Given the description of an element on the screen output the (x, y) to click on. 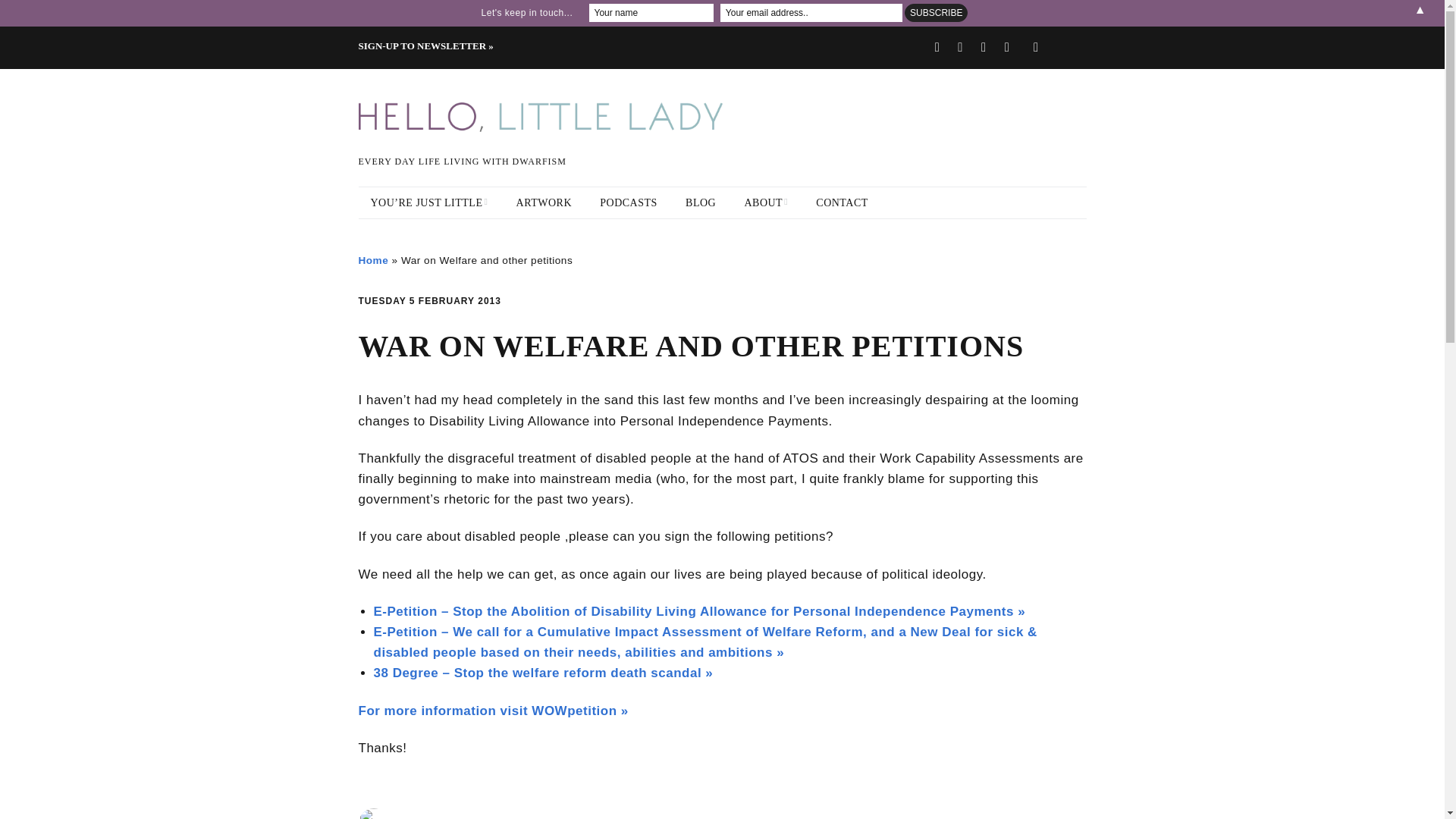
PODCASTS (628, 203)
ARTWORK (543, 203)
BLOG (700, 203)
Home (373, 260)
Subscribe (936, 13)
Little Lady (440, 817)
ABOUT (765, 203)
38 Degrees (542, 672)
CONTACT (841, 203)
E Petition against the abolition of DLA (698, 611)
